Given the description of an element on the screen output the (x, y) to click on. 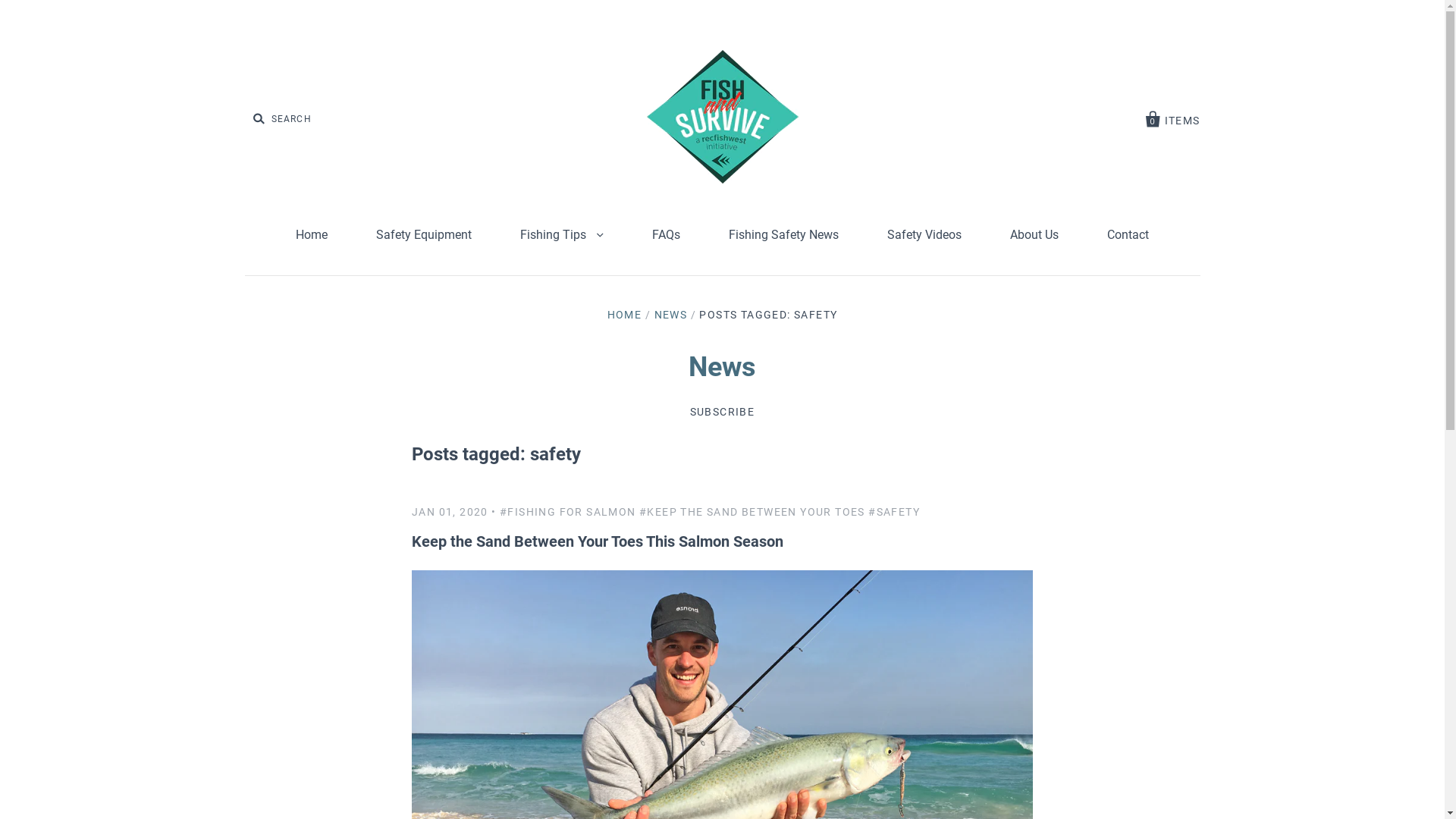
Fishing Safety News Element type: text (783, 234)
SUBSCRIBE Element type: text (722, 411)
Safety Equipment Element type: text (423, 234)
0
ITEMS Element type: text (1172, 116)
Safety Videos Element type: text (924, 234)
Keep the Sand Between Your Toes This Salmon Season Element type: text (597, 541)
#SAFETY Element type: text (893, 511)
About Us Element type: text (1034, 234)
#KEEP THE SAND BETWEEN YOUR TOES Element type: text (752, 511)
Contact Element type: text (1127, 234)
Home Element type: text (311, 234)
News Element type: text (722, 366)
#FISHING FOR SALMON Element type: text (567, 511)
FAQs Element type: text (665, 234)
NEWS Element type: text (670, 314)
HOME Element type: text (624, 314)
Fishing Tips Element type: text (561, 234)
